Given the description of an element on the screen output the (x, y) to click on. 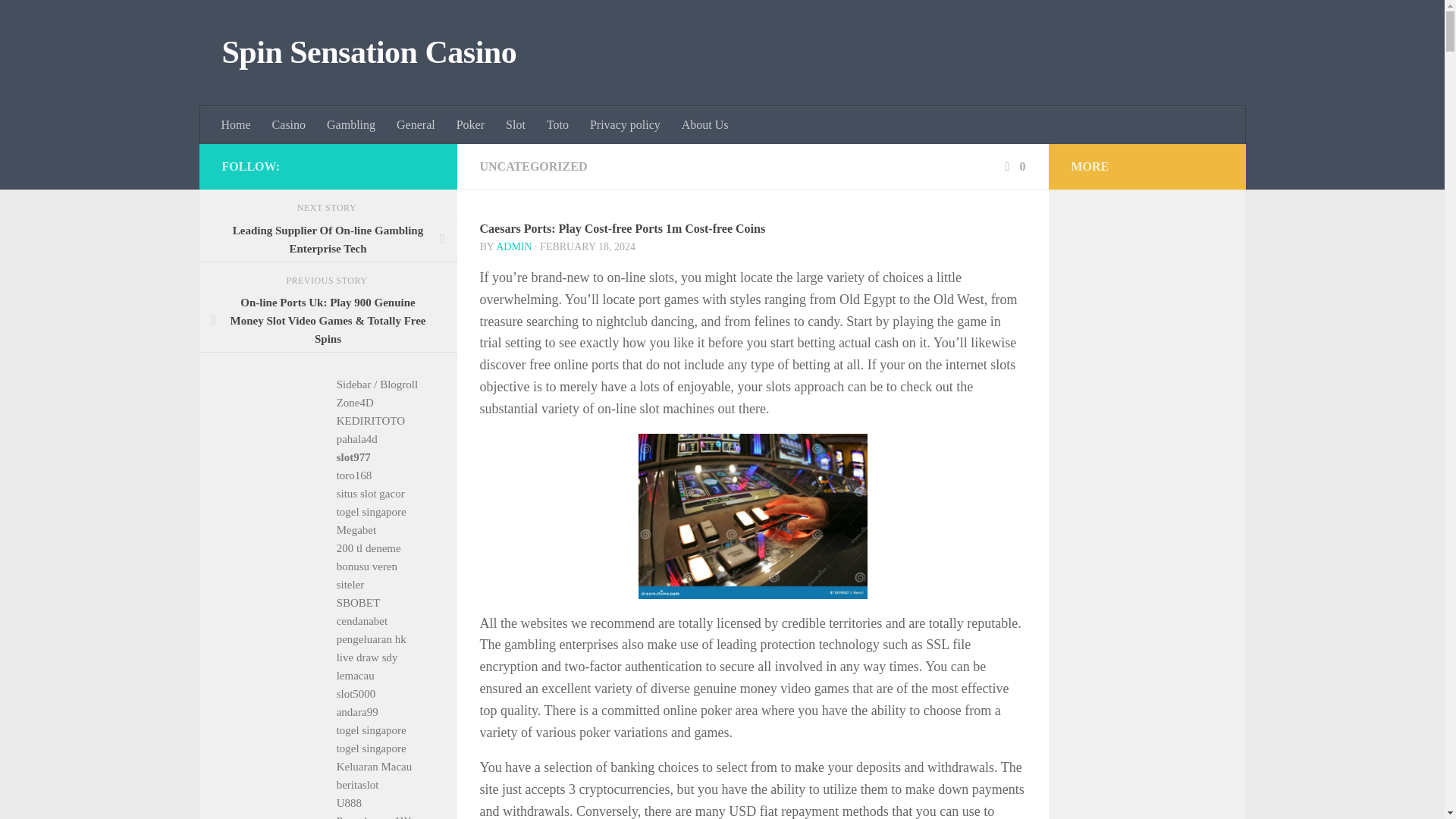
Home (236, 125)
Spin Sensation Casino (368, 53)
Casino (288, 125)
Posts by admin (513, 246)
Skip to content (59, 20)
UNCATEGORIZED (532, 165)
About Us (705, 125)
Slot (515, 125)
ADMIN (513, 246)
General (415, 125)
Poker (470, 125)
Privacy policy (625, 125)
Toto (557, 125)
Gambling (350, 125)
0 (1013, 165)
